Given the description of an element on the screen output the (x, y) to click on. 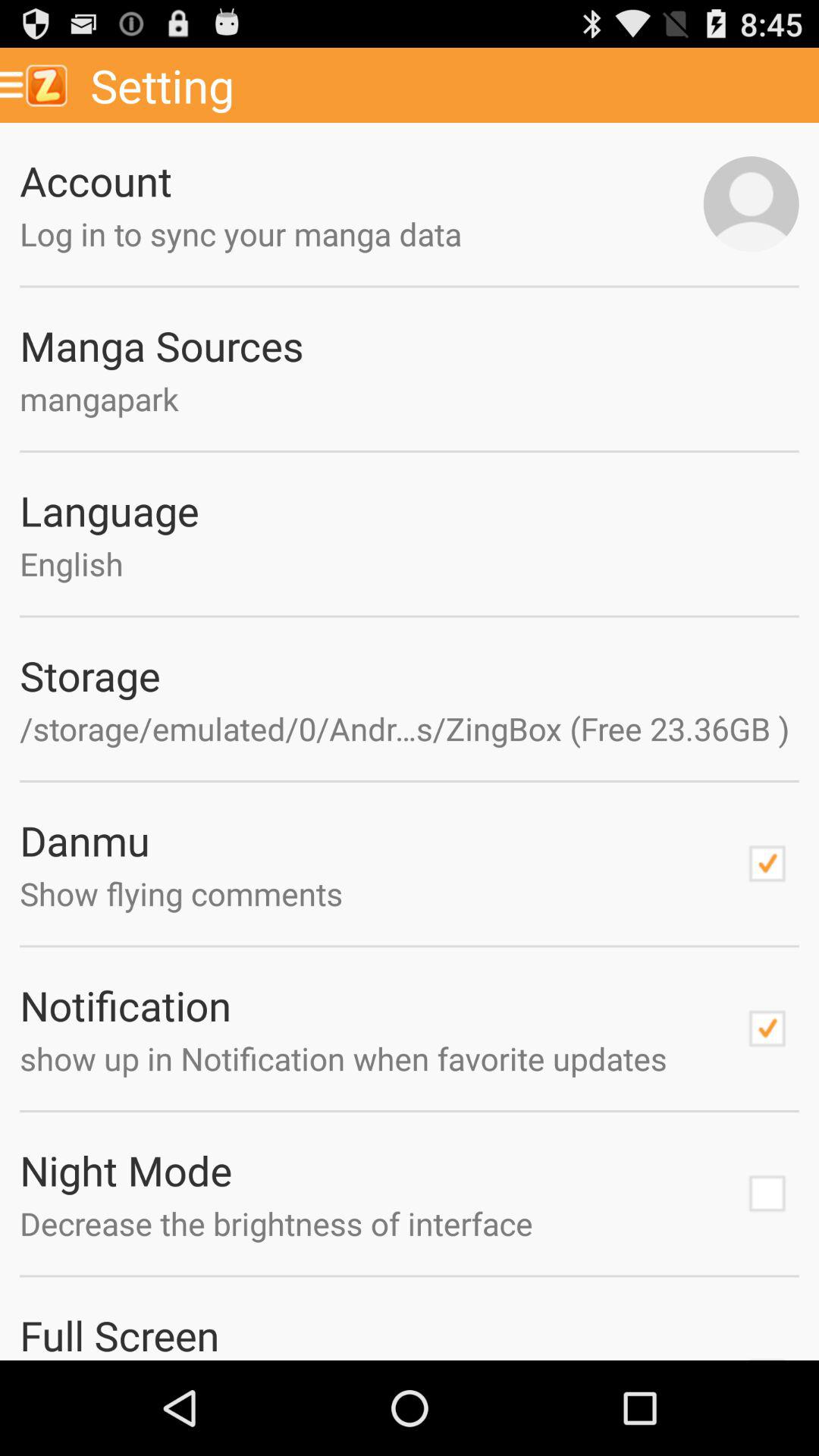
switch show flying comments check box (767, 863)
